Given the description of an element on the screen output the (x, y) to click on. 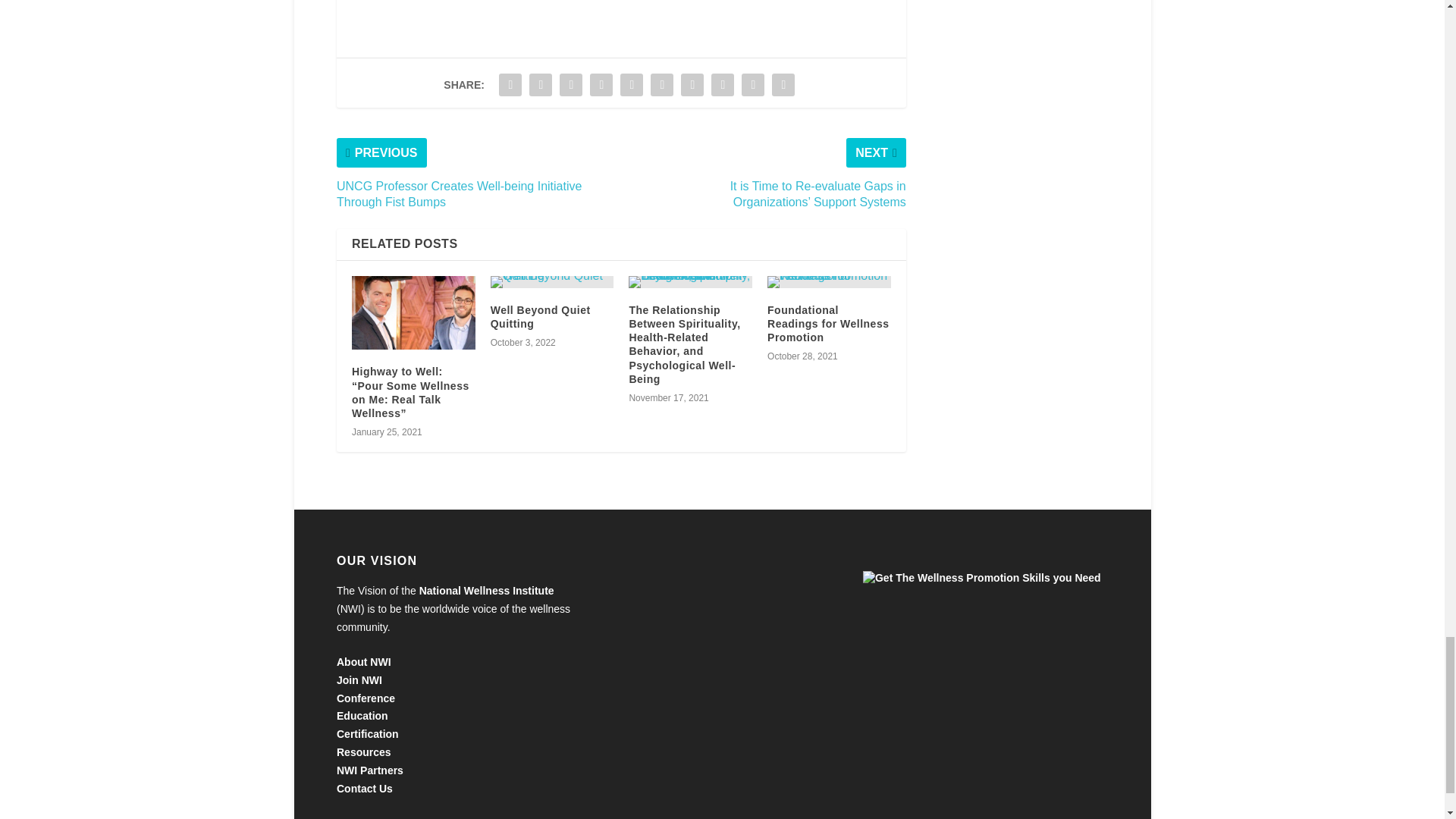
Well Beyond Quiet Quitting (552, 282)
